Given the description of an element on the screen output the (x, y) to click on. 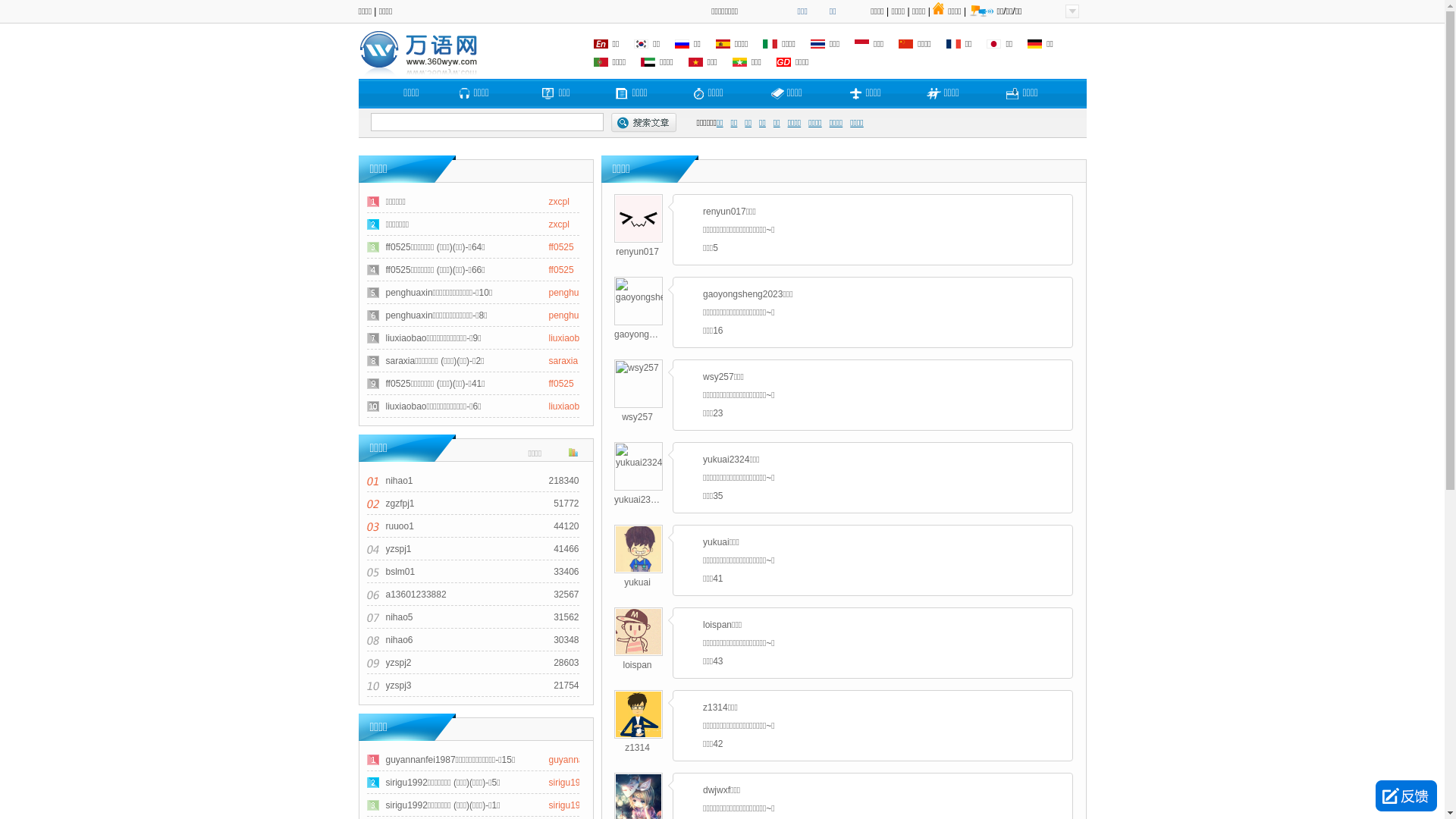
yukuai2324 Element type: text (637, 499)
ff0525 Element type: text (561, 383)
saraxia Element type: text (563, 360)
yukuai Element type: text (637, 582)
penghuaxin Element type: text (572, 292)
yukuai2324 Element type: hover (638, 462)
nihao5 Element type: text (398, 616)
sirigu1992 Element type: text (569, 805)
loispan Element type: text (636, 664)
liuxiaobao Element type: text (569, 406)
zgzfpj1 Element type: text (399, 503)
nihao1 Element type: text (398, 480)
yukuai Element type: hover (638, 568)
wsy257 Element type: text (636, 416)
loispan Element type: hover (638, 651)
guyannanfei1987 Element type: text (583, 759)
ruuoo1 Element type: text (399, 525)
liuxiaobao Element type: text (569, 337)
ff0525 Element type: text (561, 246)
zxcpl Element type: text (559, 224)
ff0525 Element type: text (561, 269)
yzspj1 Element type: text (398, 548)
sirigu1992 Element type: text (569, 782)
renyun017 Element type: hover (638, 237)
z1314 Element type: hover (638, 733)
z1314 Element type: text (636, 747)
zxcpl Element type: text (559, 201)
gaoyongsheng2023 Element type: hover (655, 296)
penghuaxin Element type: text (572, 315)
nihao6 Element type: text (398, 639)
yzspj3 Element type: text (398, 685)
bslm01 Element type: text (399, 571)
wsy257 Element type: hover (636, 367)
a13601233882 Element type: text (415, 594)
gaoyongsheng2023 Element type: text (653, 334)
yzspj2 Element type: text (398, 662)
renyun017 Element type: text (636, 251)
